Given the description of an element on the screen output the (x, y) to click on. 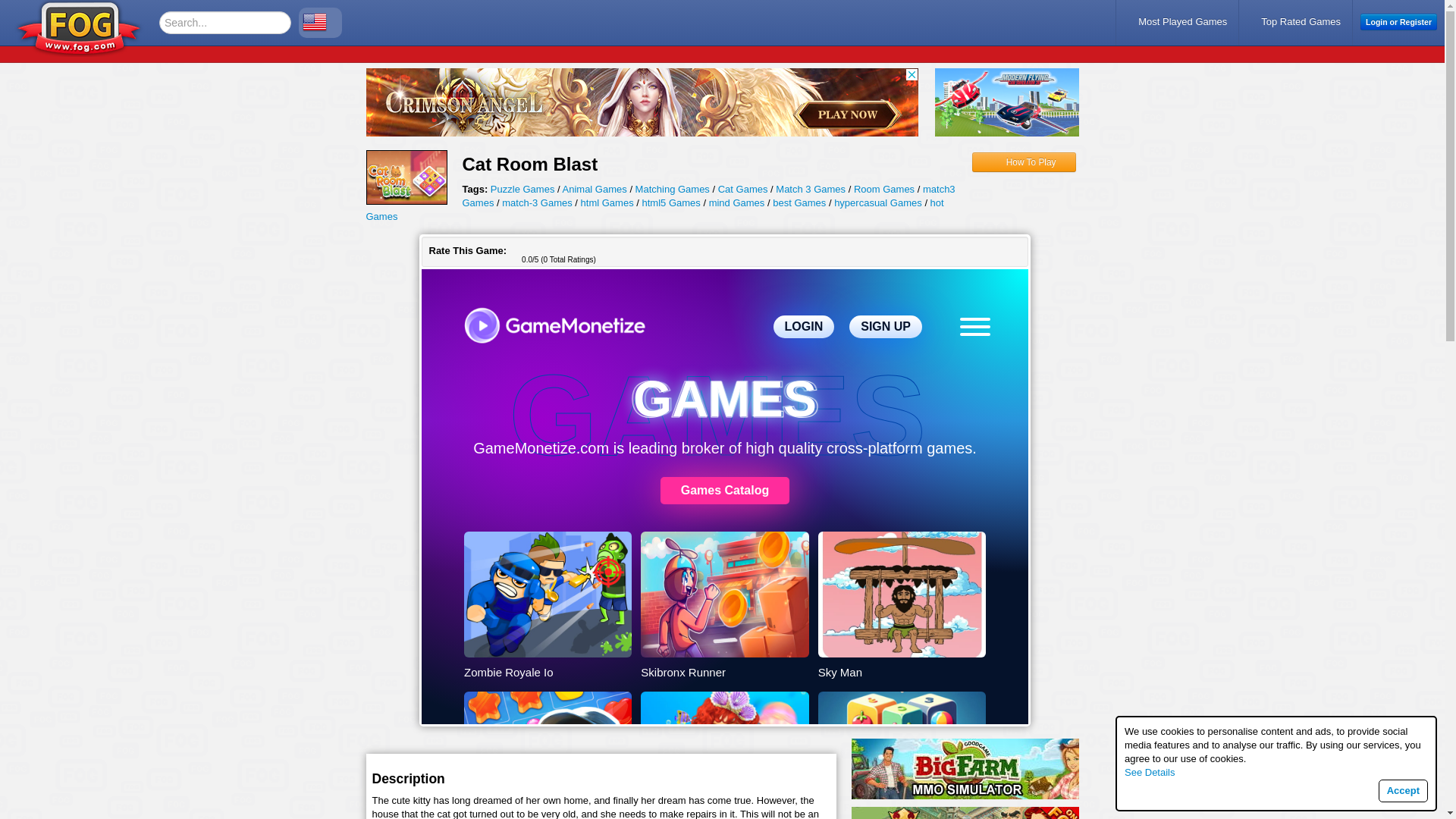
Most Played Games (1177, 21)
Login or Register (1398, 21)
Top Rated Games (1295, 21)
3rd party ad content (641, 101)
